Given the description of an element on the screen output the (x, y) to click on. 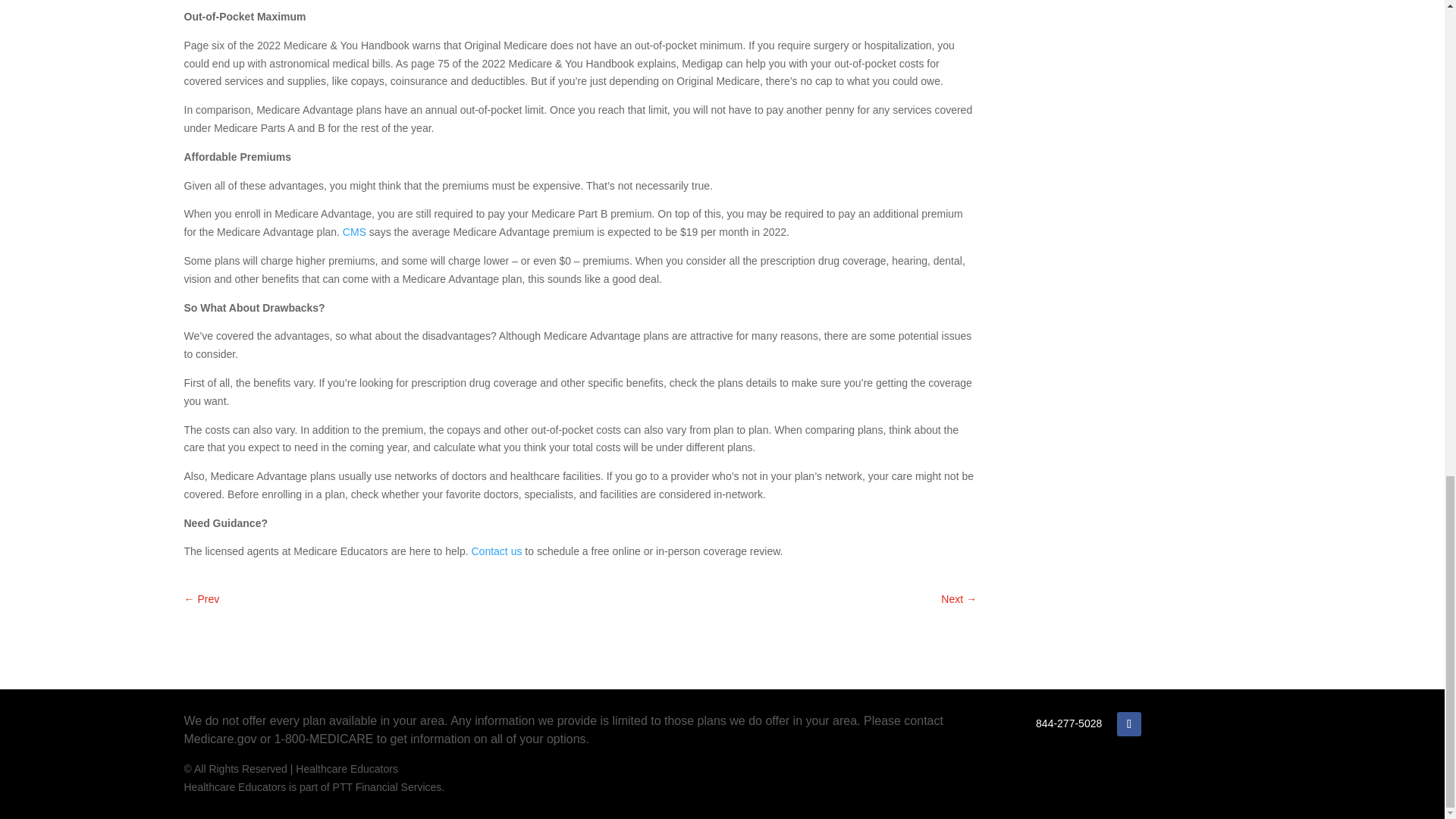
CMS (354, 232)
Contact us (496, 551)
Follow on Facebook (1128, 723)
